Given the description of an element on the screen output the (x, y) to click on. 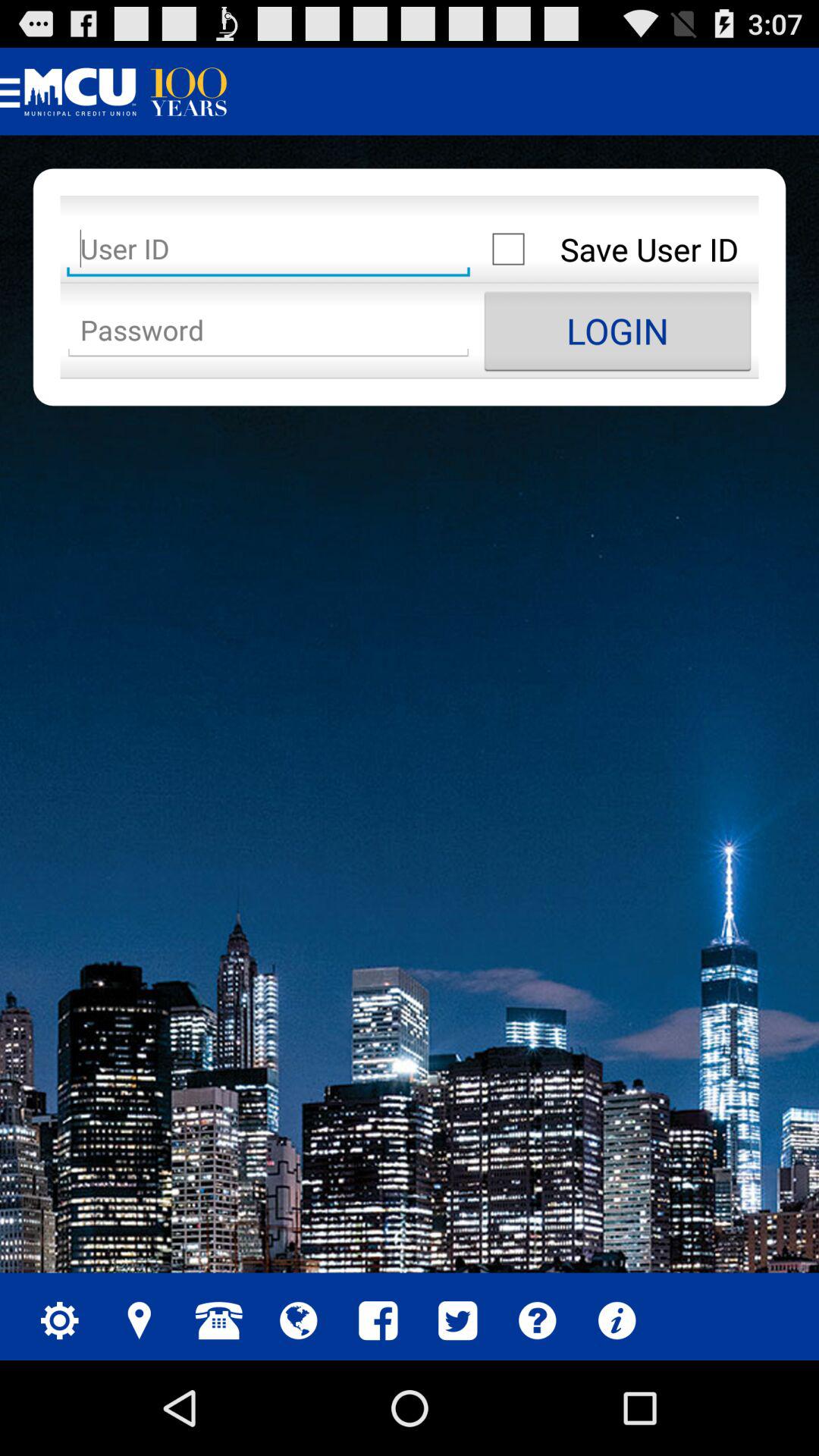
input user id (268, 249)
